Given the description of an element on the screen output the (x, y) to click on. 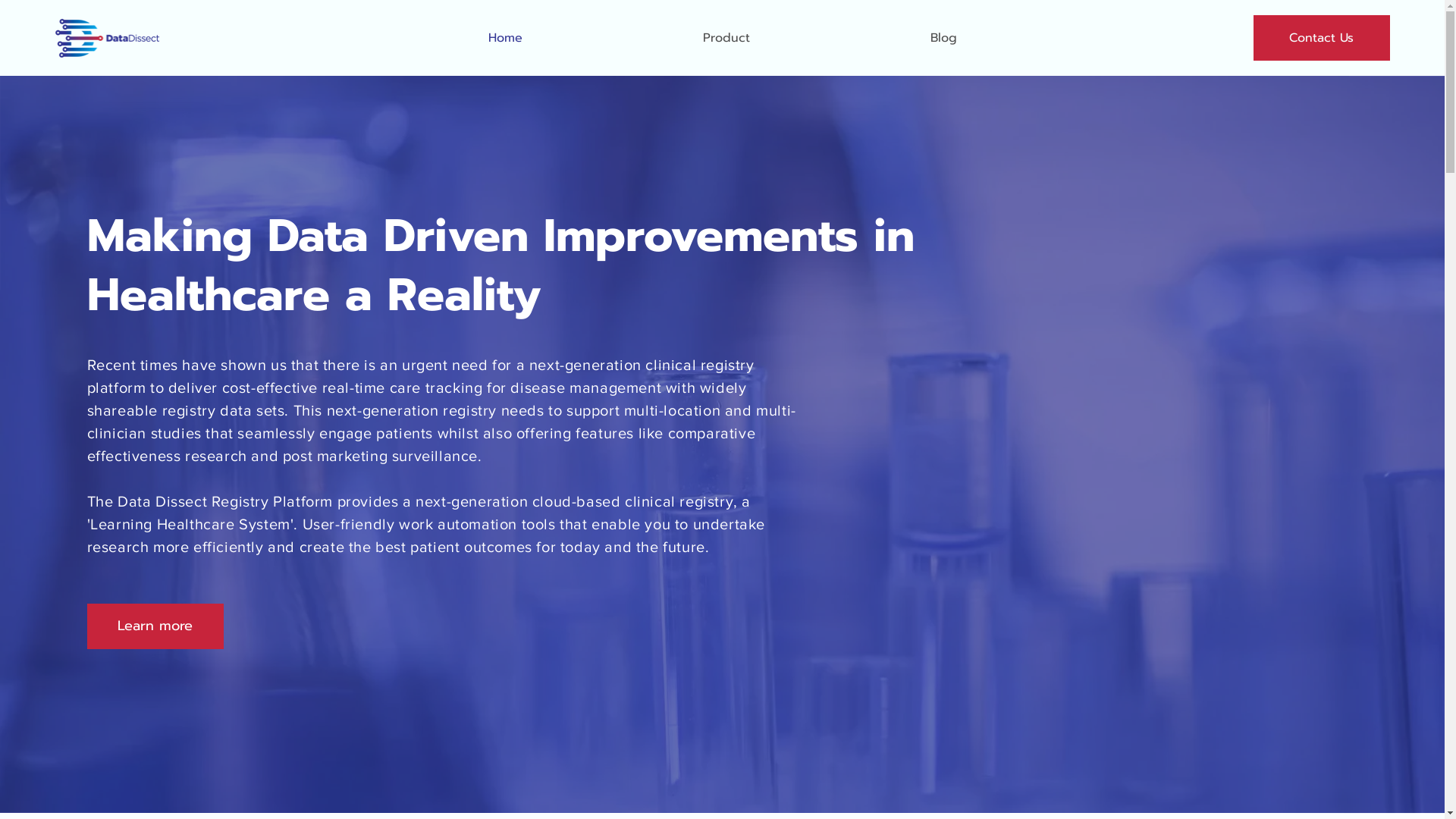
Home Element type: text (504, 38)
Learn more Element type: text (155, 626)
Contact Us Element type: text (1321, 37)
Blog Element type: text (943, 38)
Product Element type: text (726, 38)
